Given the description of an element on the screen output the (x, y) to click on. 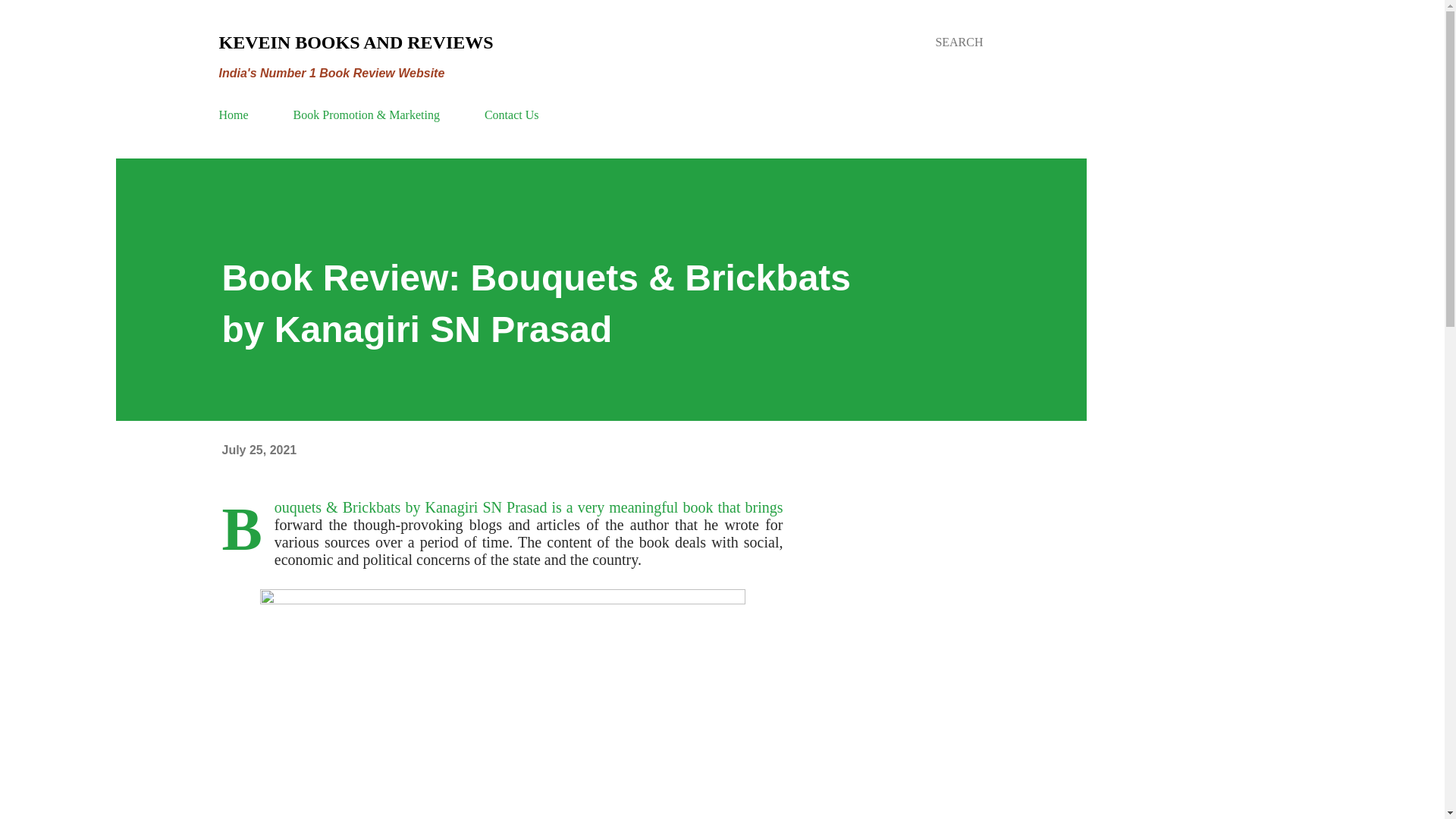
KEVEIN BOOKS AND REVIEWS (355, 42)
Contact Us (512, 114)
permanent link (259, 449)
July 25, 2021 (259, 449)
SEARCH (958, 42)
Home (237, 114)
